Given the description of an element on the screen output the (x, y) to click on. 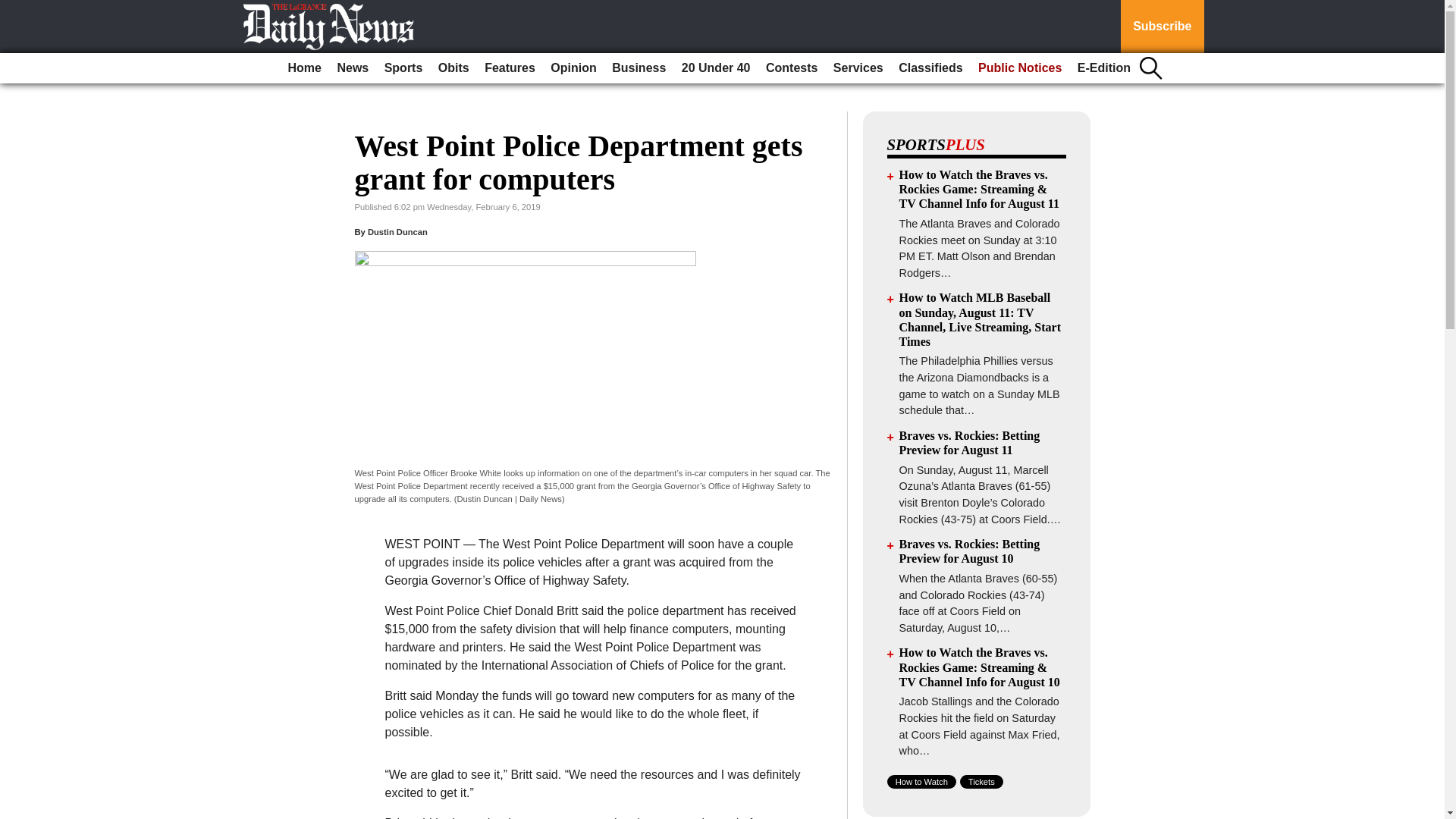
Contests (792, 68)
Braves vs. Rockies: Betting Preview for August 11 (970, 442)
How to Watch (921, 781)
Dustin Duncan (398, 231)
Sports (403, 68)
20 Under 40 (716, 68)
Classifieds (930, 68)
Subscribe (1162, 26)
Business (638, 68)
News (352, 68)
